Given the description of an element on the screen output the (x, y) to click on. 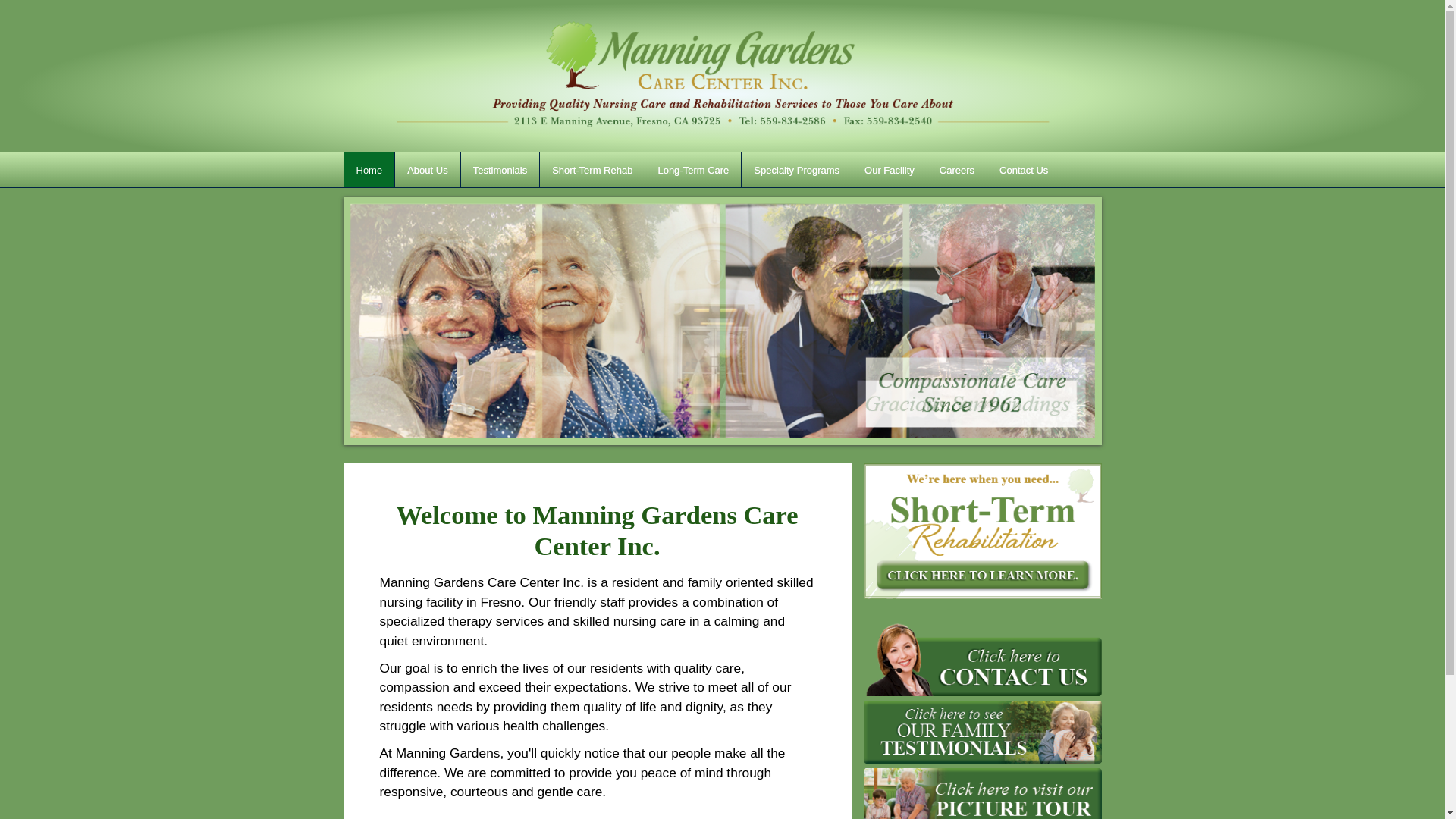
About Us (427, 169)
Specialty Programs (796, 169)
Testimonials (500, 169)
Short-Term Rehab (592, 169)
Home (368, 169)
Long-Term Care (693, 169)
Manning Gardens Care Center Inc. (721, 75)
